Given the description of an element on the screen output the (x, y) to click on. 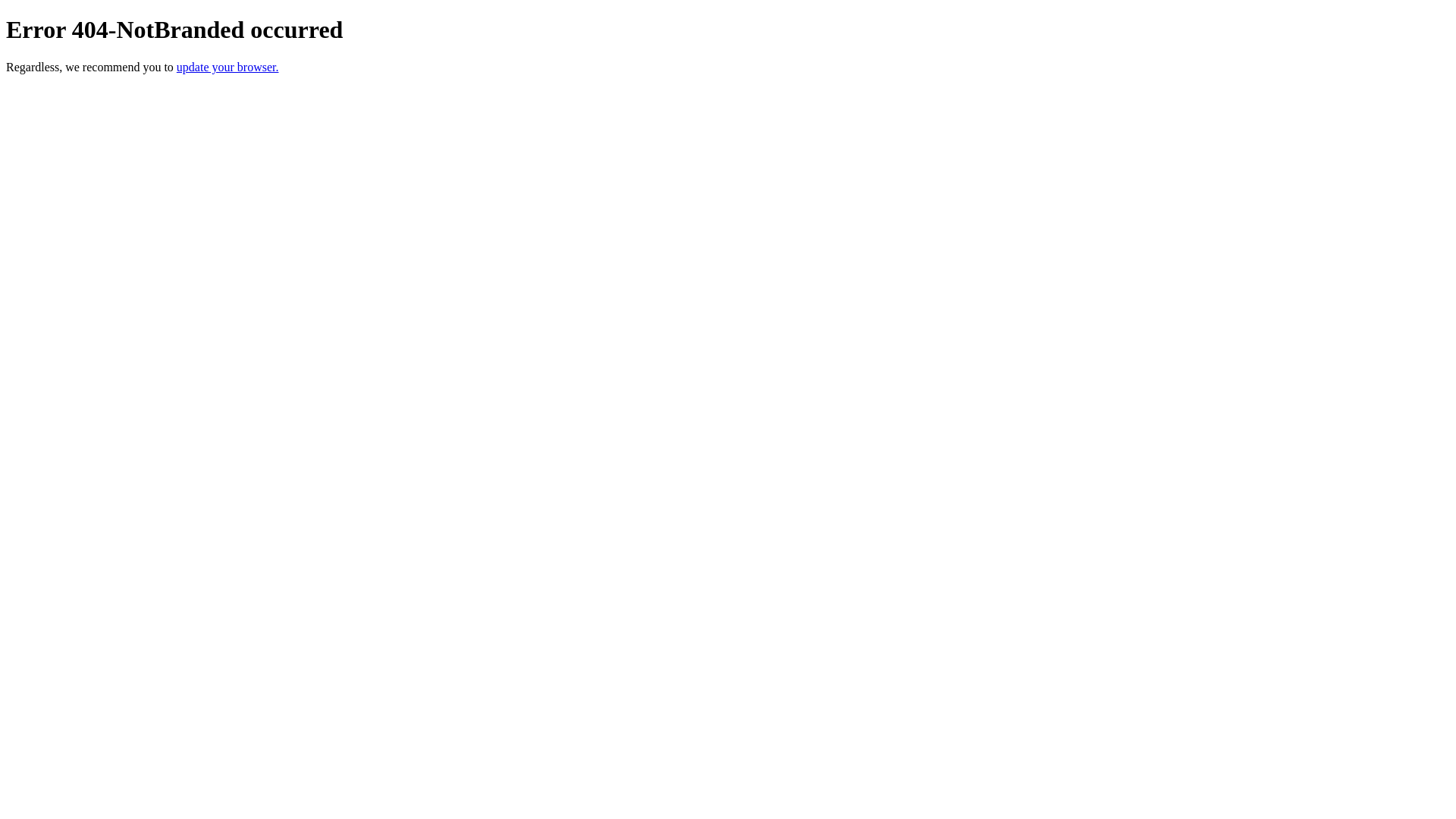
update your browser. Element type: text (227, 66)
